Given the description of an element on the screen output the (x, y) to click on. 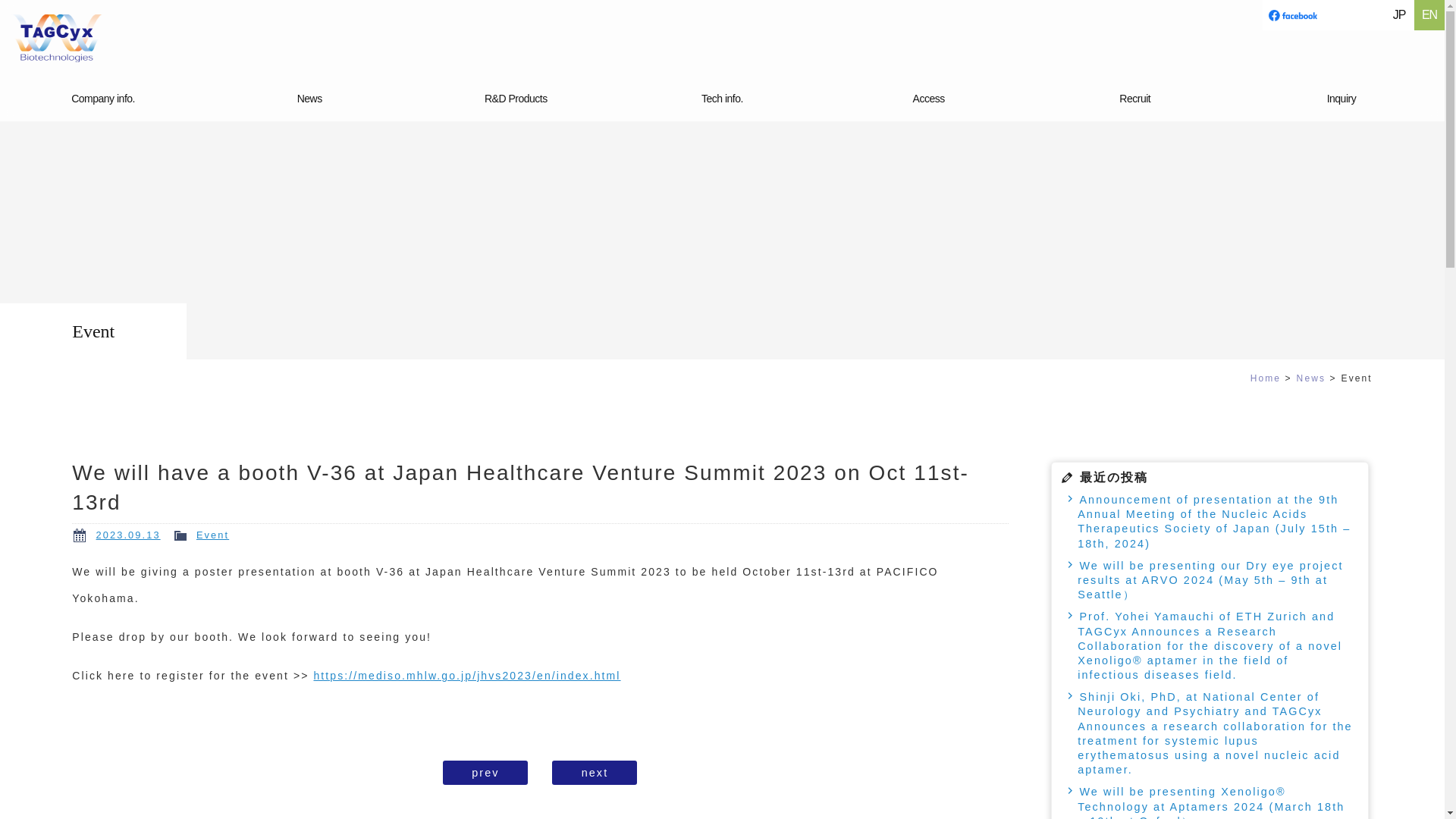
Recruit (1135, 98)
Company info. (103, 98)
News (309, 98)
Facebook (1292, 15)
Access (928, 98)
Linked in (1353, 15)
JP (1398, 15)
Tech info. (721, 98)
